Given the description of an element on the screen output the (x, y) to click on. 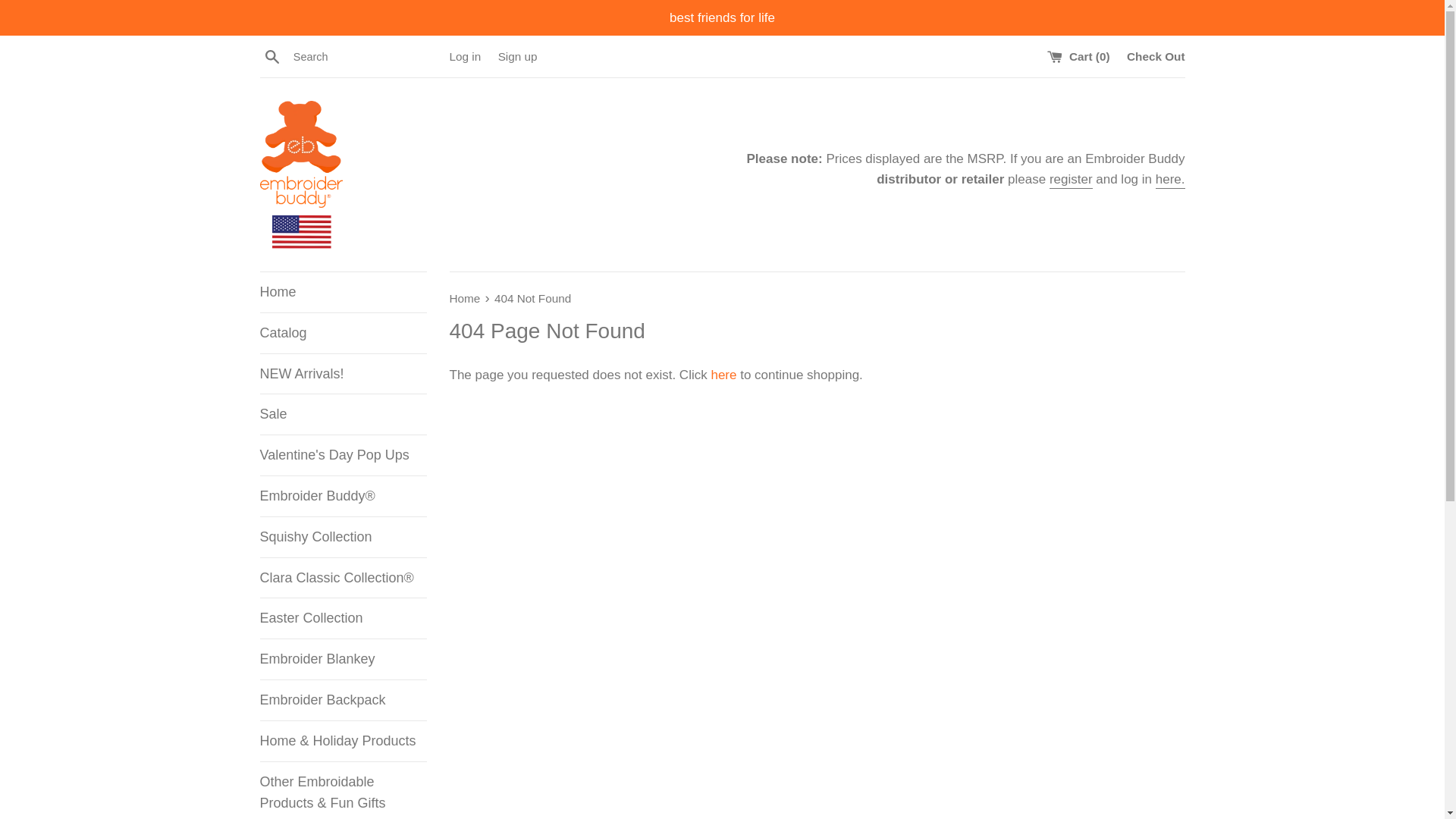
Back to the frontpage (465, 297)
Valentine's Day Pop Ups (342, 454)
Embroider Blankey (342, 659)
Easter Collection (342, 618)
Home (465, 297)
Squishy Collection (342, 536)
Check Out (1155, 56)
register (1071, 180)
Embroider Backpack (342, 700)
NEW Arrivals! (342, 373)
